Given the description of an element on the screen output the (x, y) to click on. 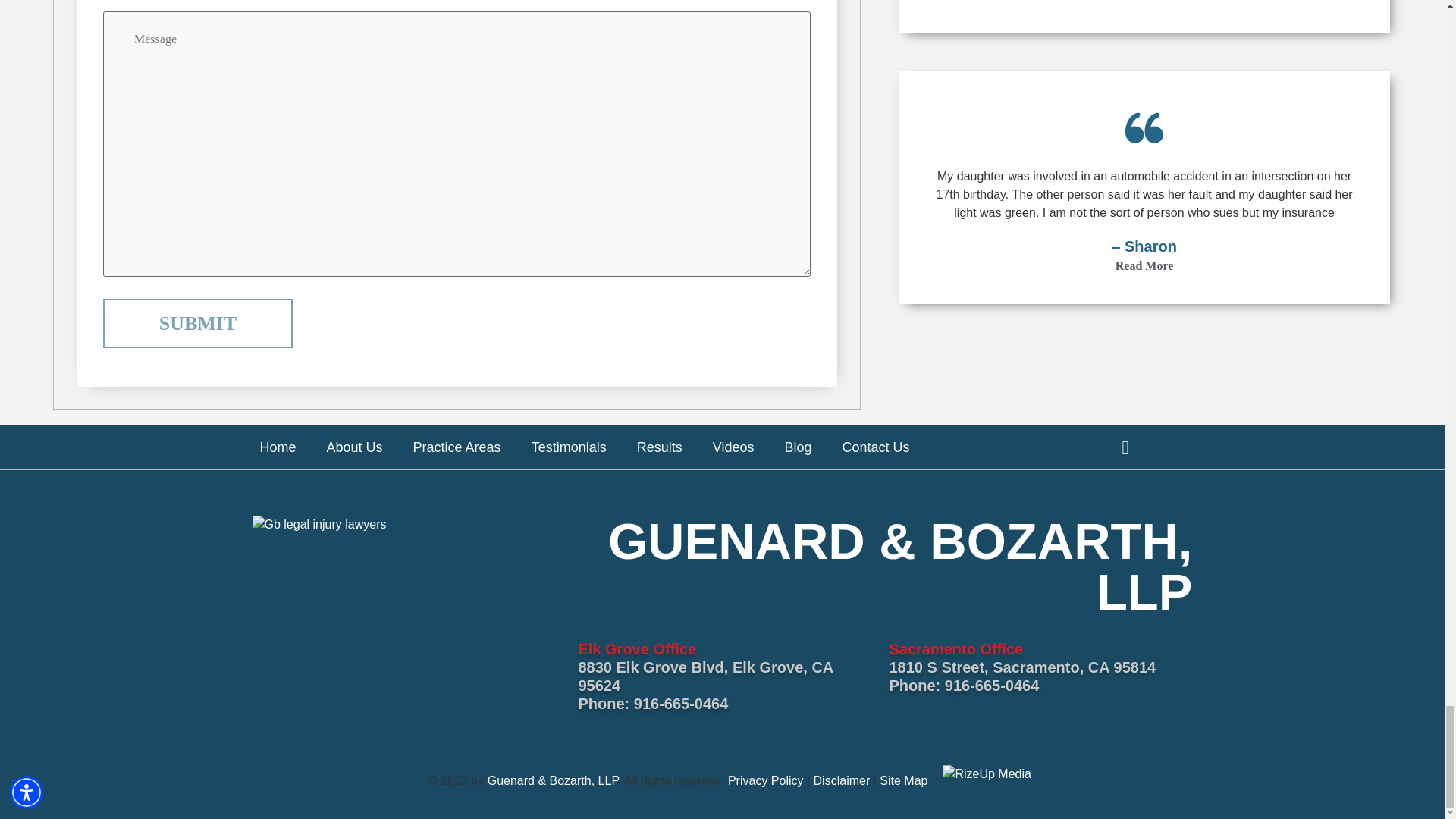
Submit (197, 323)
